Given the description of an element on the screen output the (x, y) to click on. 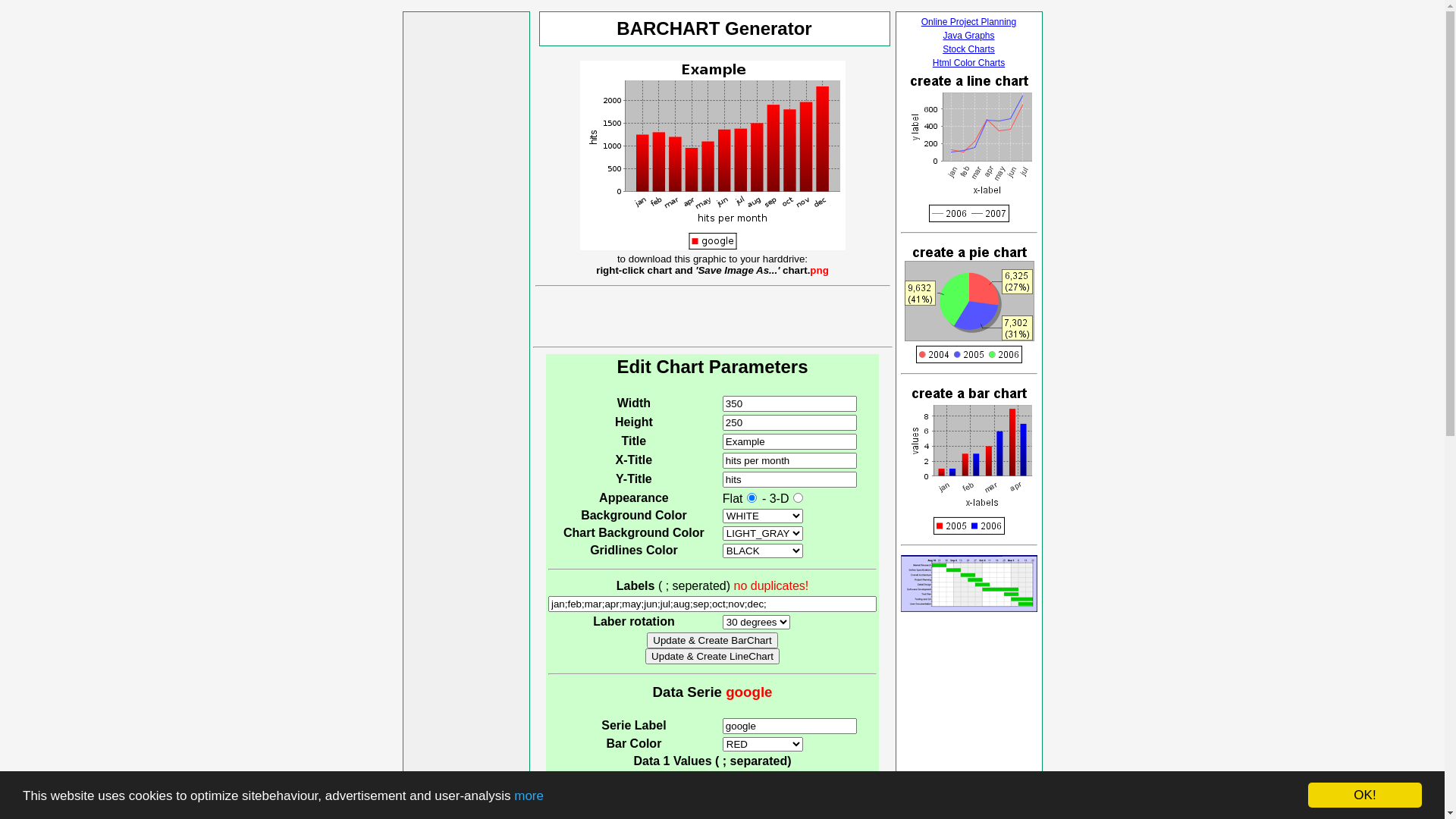
OK! Element type: text (1364, 794)
more Element type: text (528, 795)
Html Color Charts Element type: text (968, 62)
Update & Create Chart Element type: text (708, 798)
Update & Create LineChart Element type: text (712, 656)
Stock Charts Element type: text (968, 48)
Advertisement Element type: hover (712, 315)
Advertisement Element type: hover (465, 241)
Online Project Planning Element type: text (968, 21)
Update & Create BarChart Element type: text (711, 640)
Java Graphs Element type: text (968, 35)
